Given the description of an element on the screen output the (x, y) to click on. 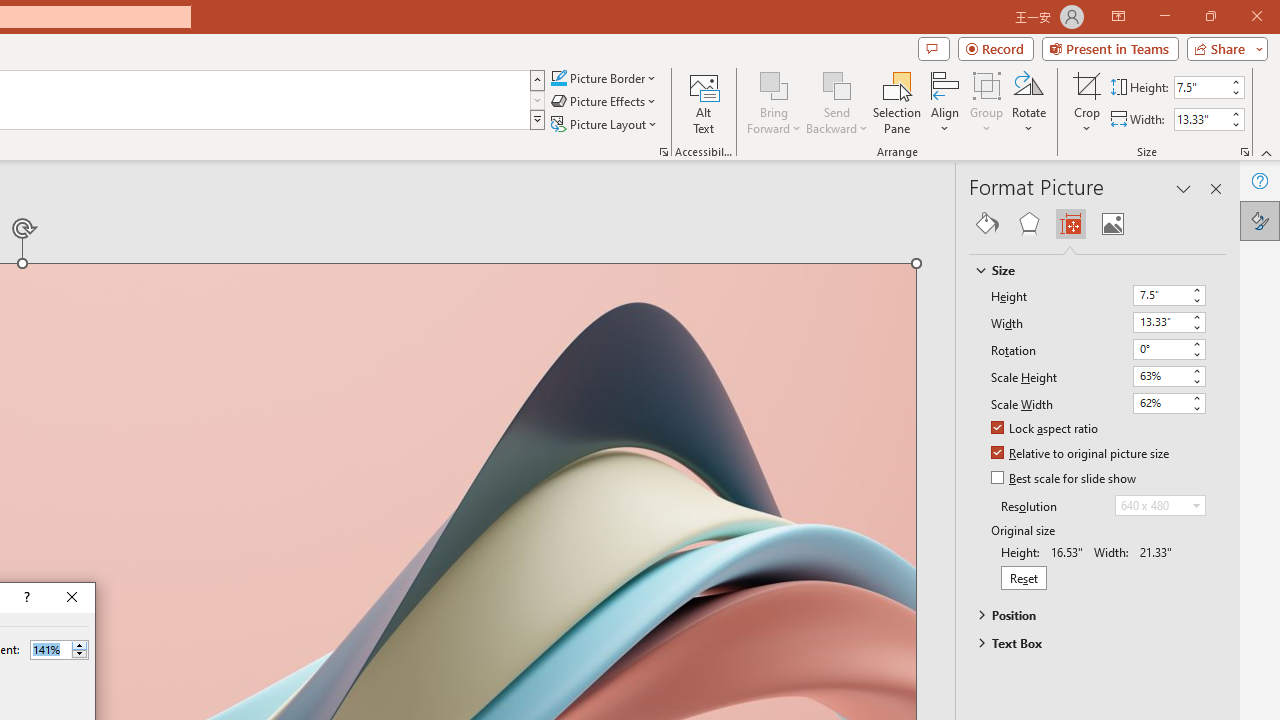
Rotation (1168, 349)
Scale Width (1160, 402)
Scale Width (1168, 403)
Relative to original picture size (1081, 453)
Picture (1112, 223)
Scale Height (1168, 376)
Best scale for slide show (1065, 479)
Rotation (1160, 348)
Percent (50, 649)
